Given the description of an element on the screen output the (x, y) to click on. 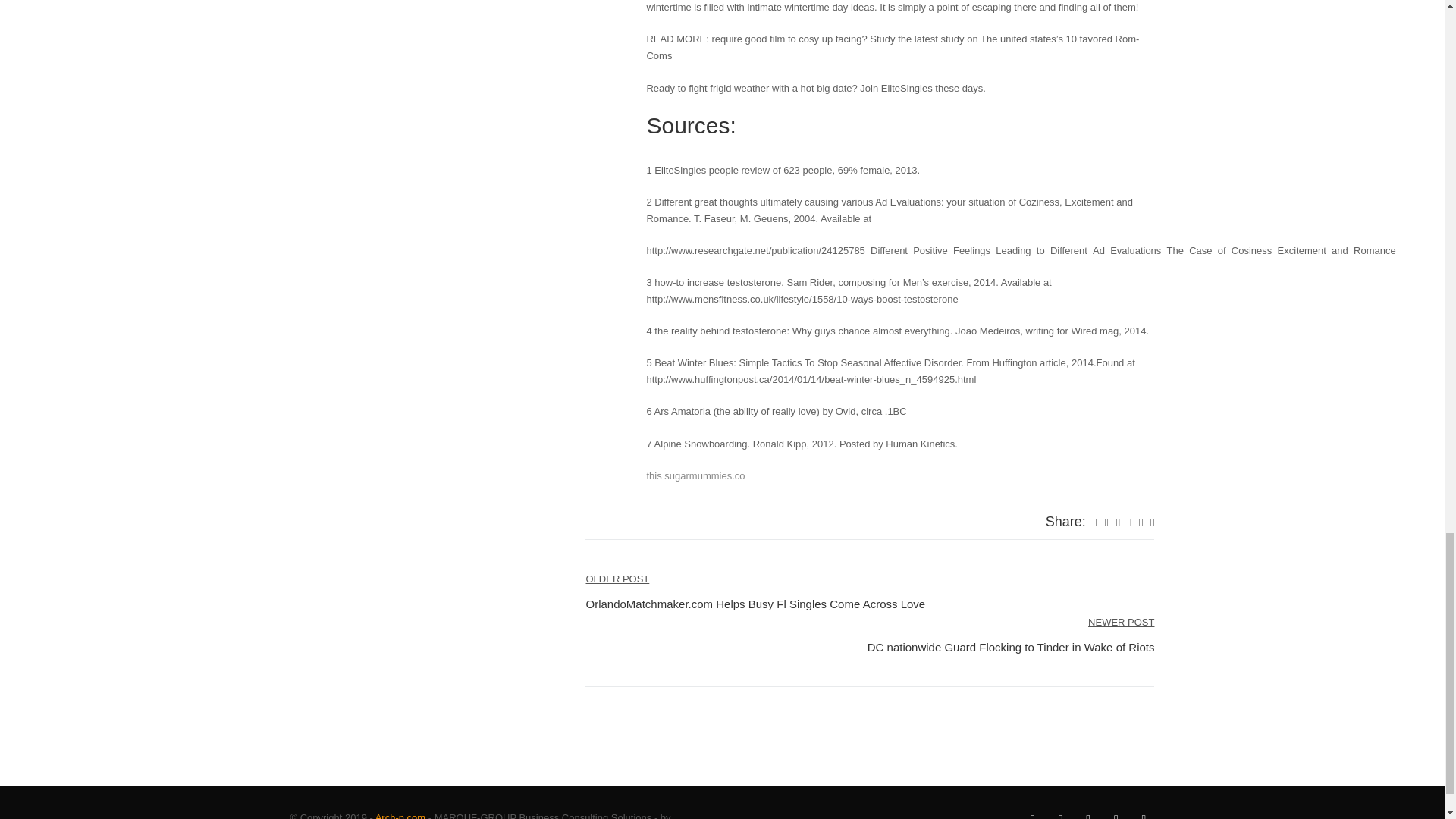
this sugarmummies.co (695, 475)
Arch-n.com (400, 815)
